Given the description of an element on the screen output the (x, y) to click on. 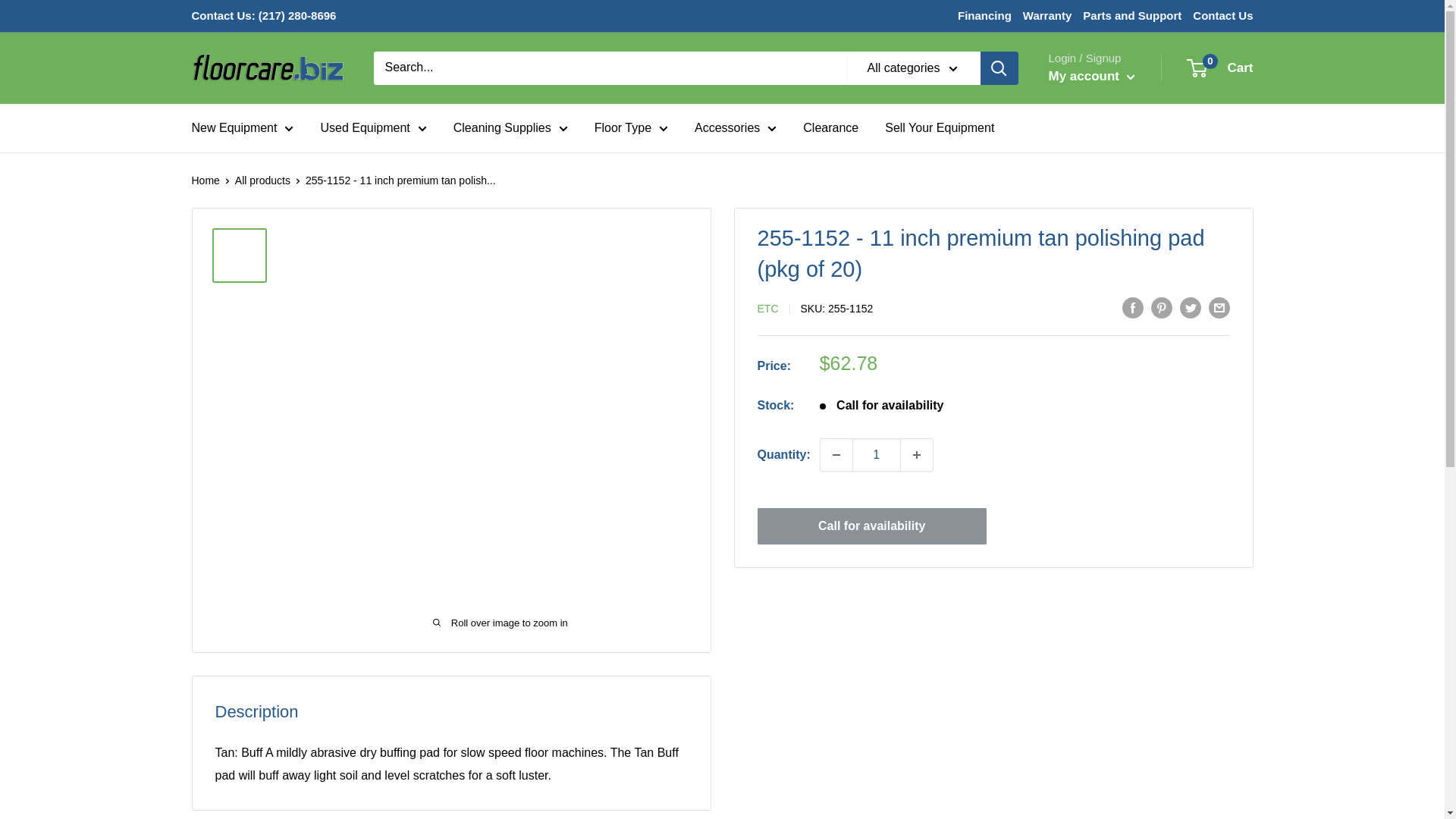
Increase quantity by 1 (917, 454)
Parts and Support (1131, 15)
Warranty (1047, 15)
1 (876, 454)
Decrease quantity by 1 (836, 454)
Contact Us (1222, 15)
Financing (984, 15)
